Given the description of an element on the screen output the (x, y) to click on. 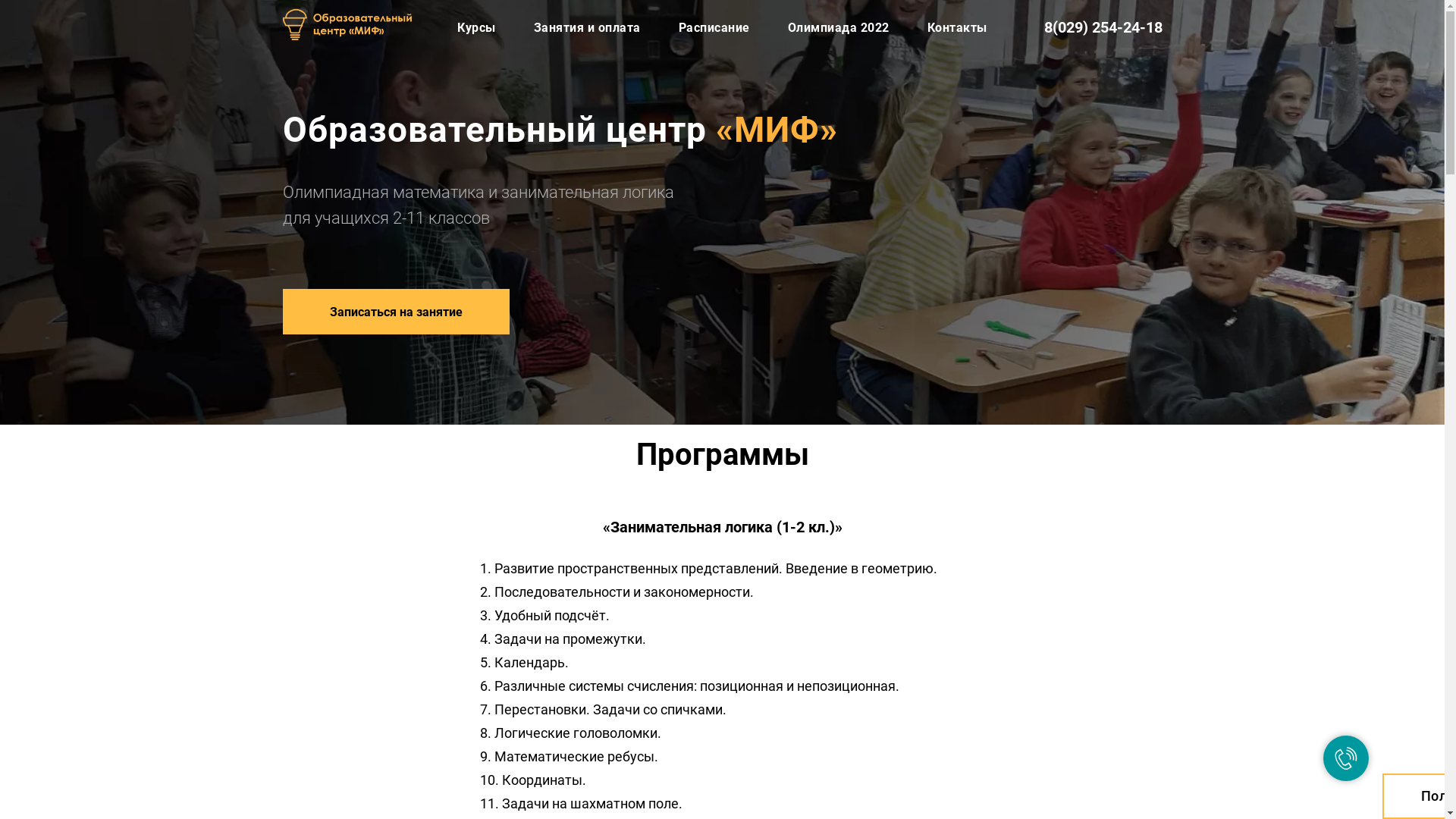
8(029) 254-24-18 Element type: text (1102, 27)
